Given the description of an element on the screen output the (x, y) to click on. 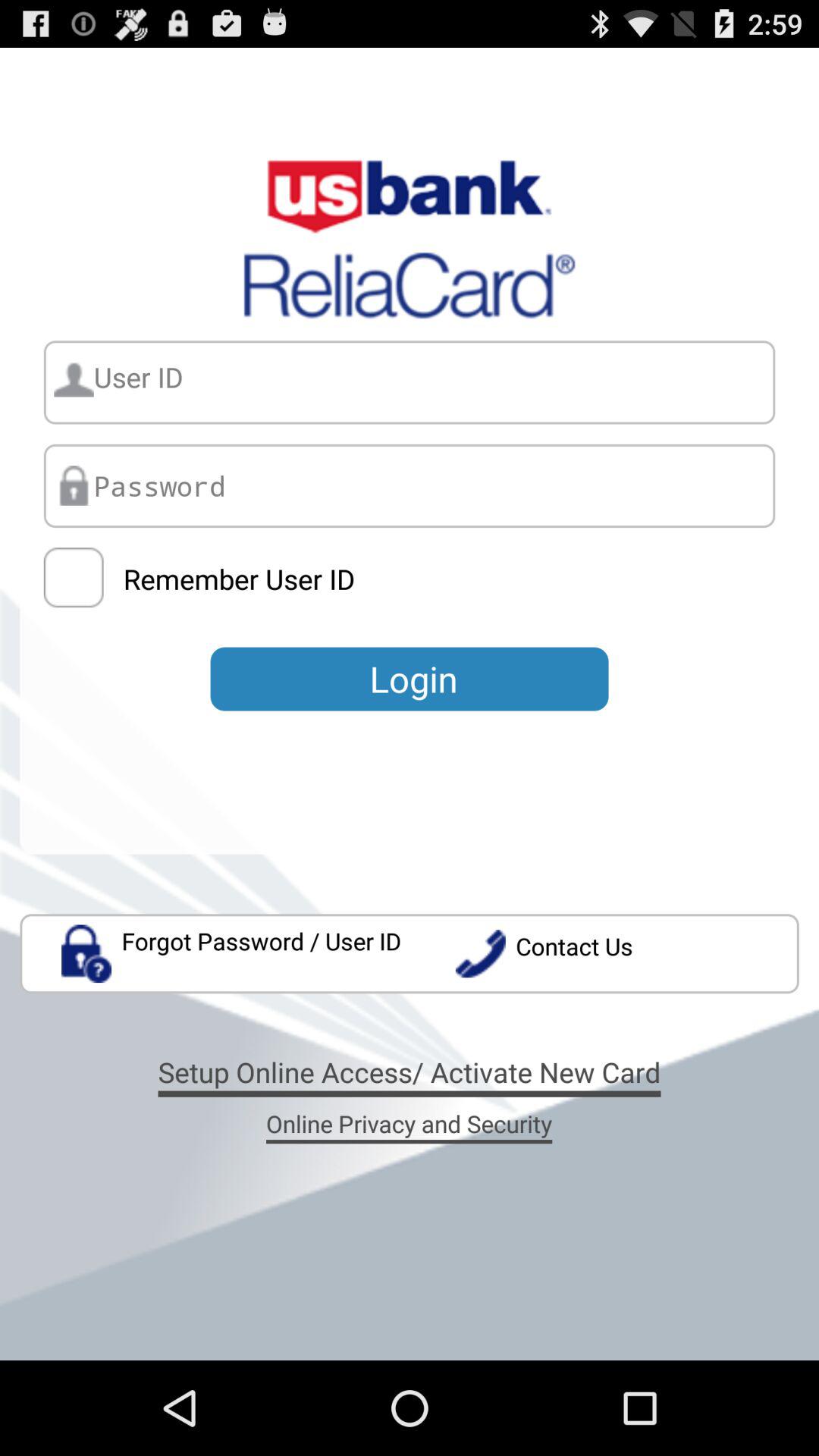
turn off the app to the left of the contact us app (232, 953)
